Given the description of an element on the screen output the (x, y) to click on. 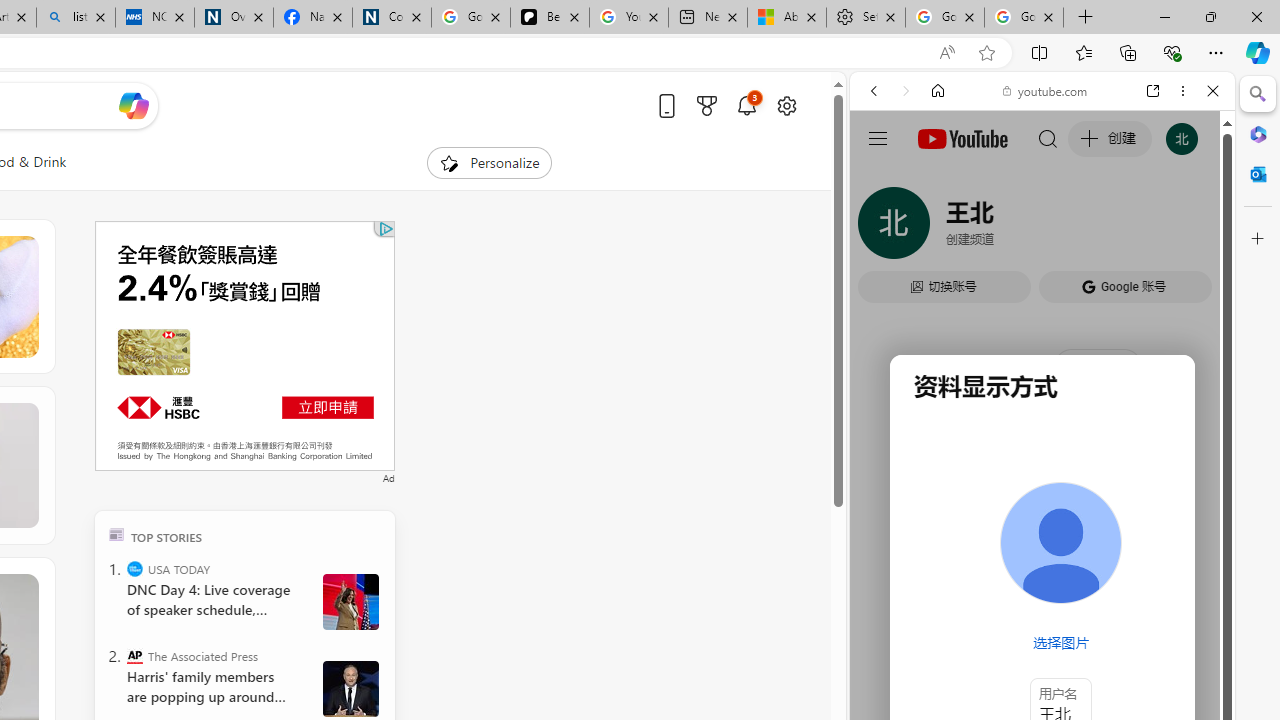
Aberdeen, Hong Kong SAR hourly forecast | Microsoft Weather (786, 17)
Preferences (1189, 228)
#you (1042, 445)
WEB   (882, 228)
Web scope (882, 180)
See more (24, 588)
More options (1182, 91)
